Given the description of an element on the screen output the (x, y) to click on. 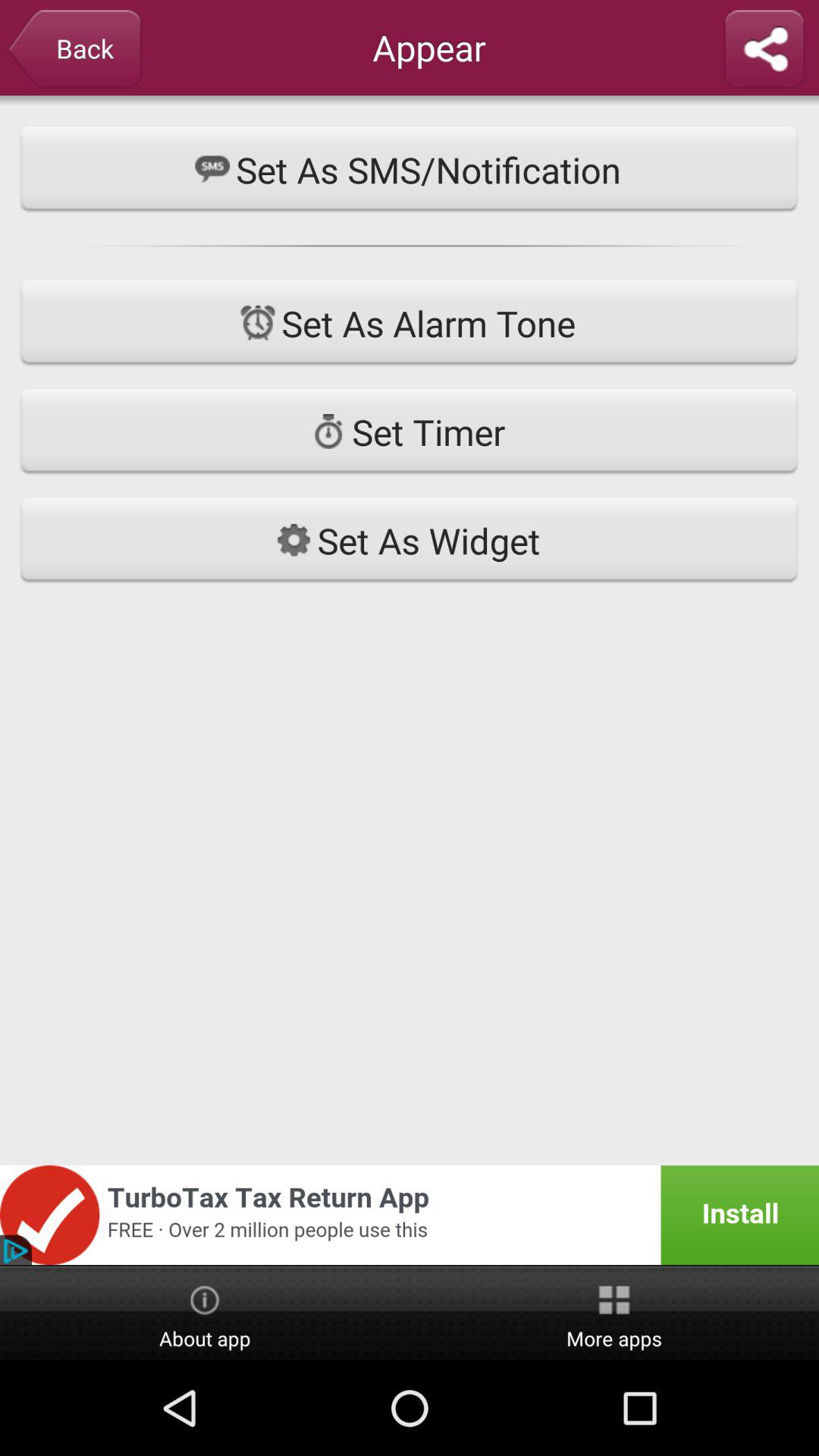
share ringtone (764, 50)
